Given the description of an element on the screen output the (x, y) to click on. 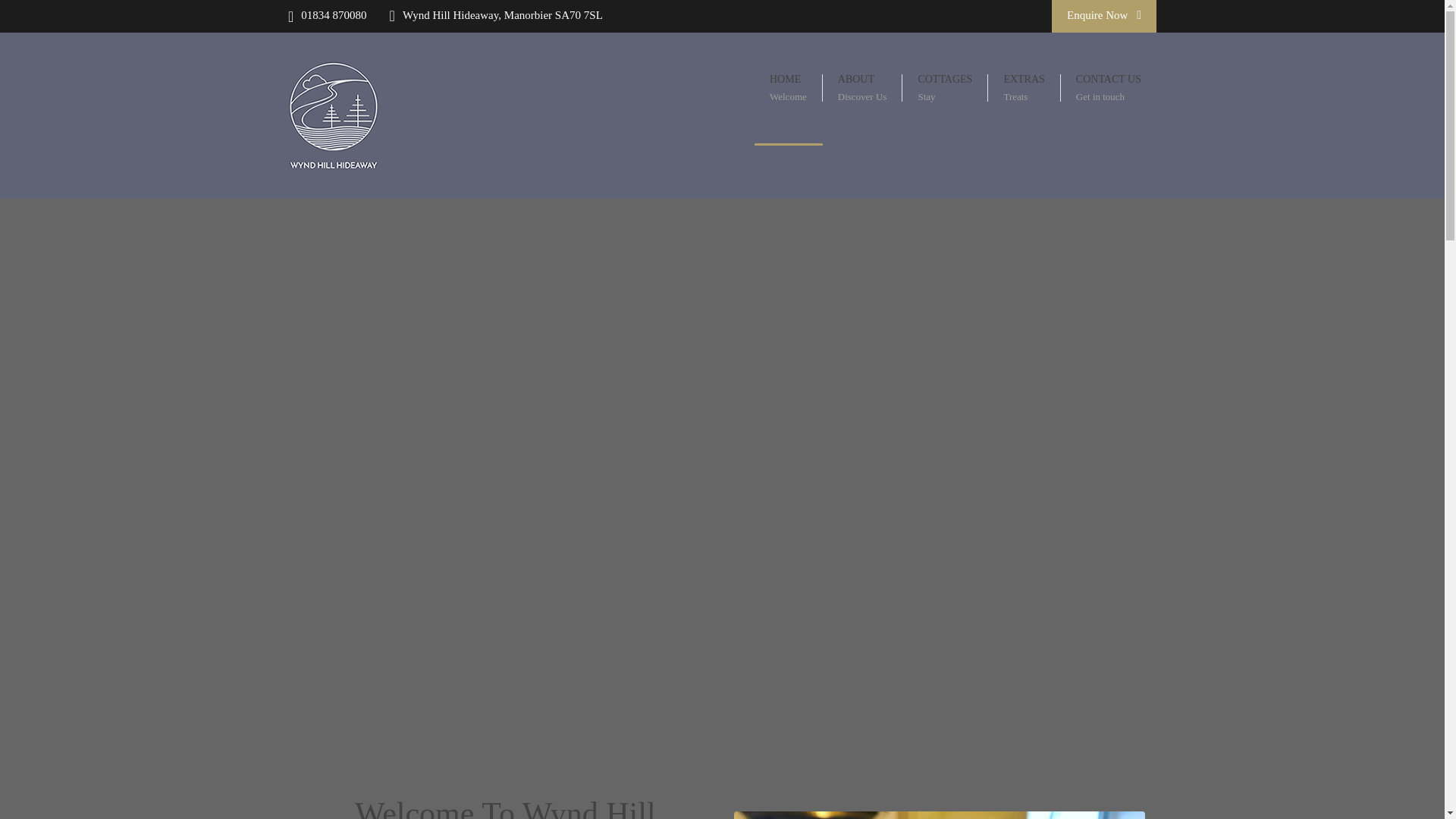
Enquire Now (788, 88)
